Given the description of an element on the screen output the (x, y) to click on. 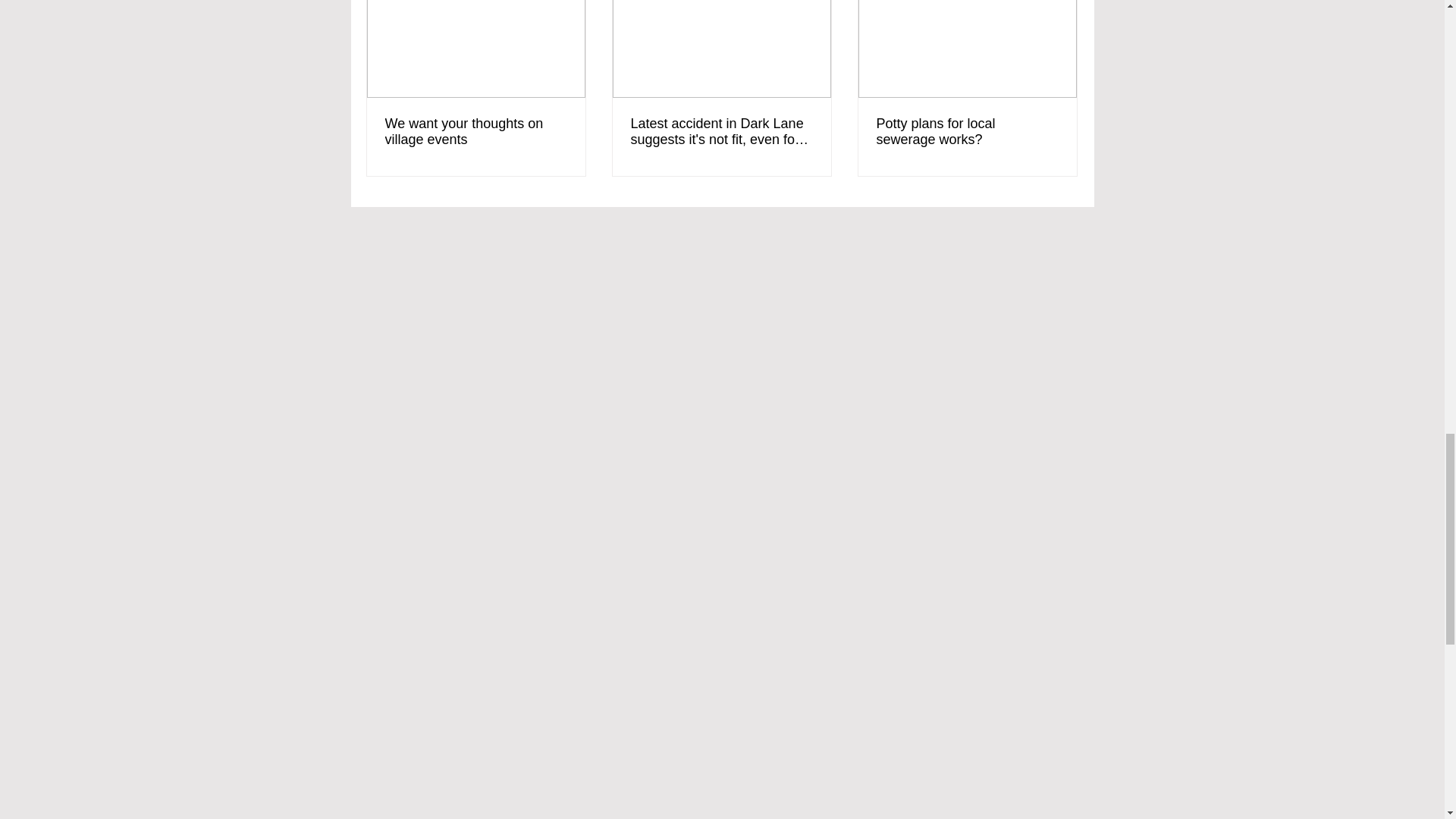
We want your thoughts on village events (476, 132)
Potty plans for local sewerage works? (967, 132)
